Given the description of an element on the screen output the (x, y) to click on. 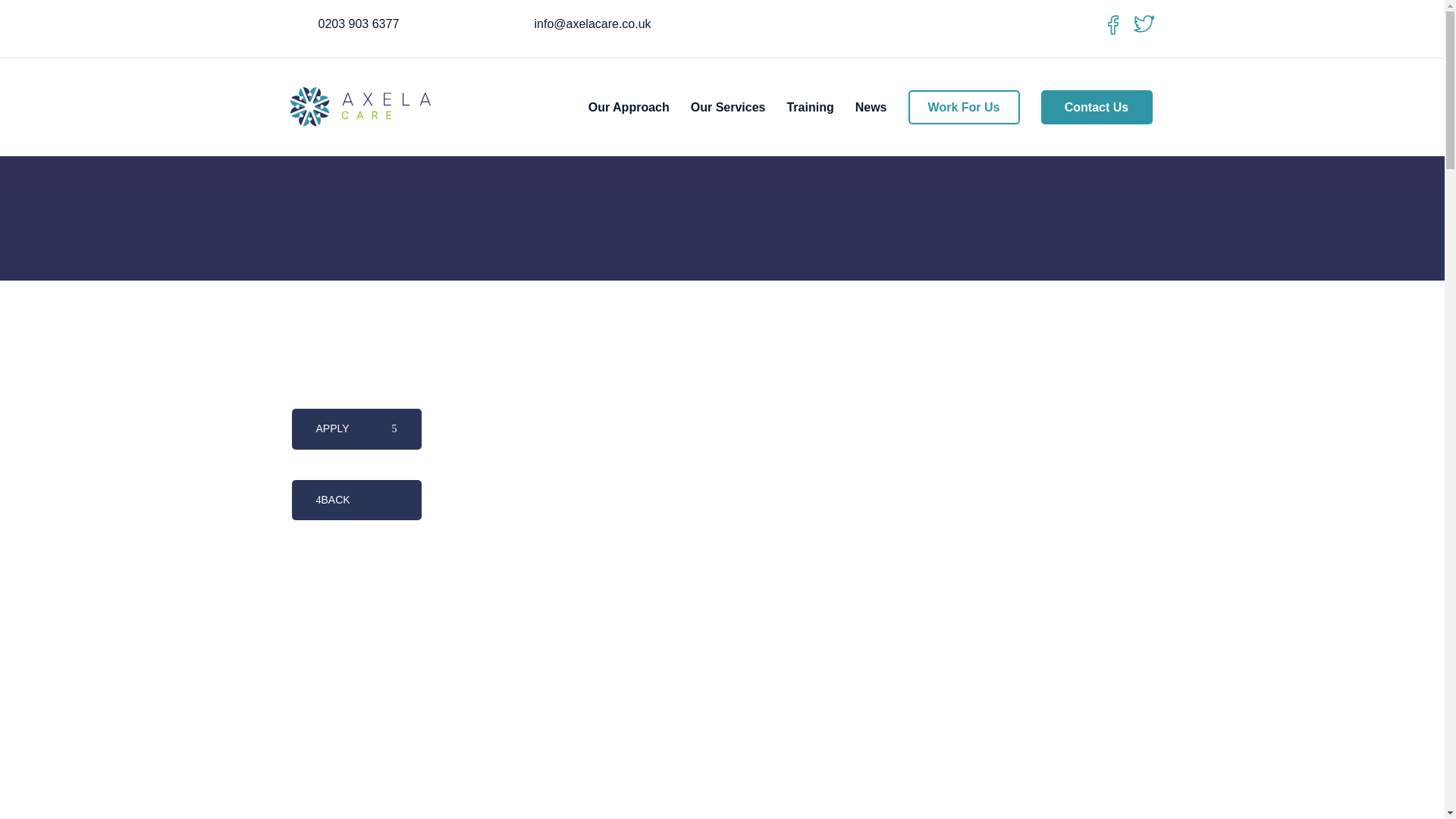
News (871, 107)
APPLY (355, 428)
BACK (355, 499)
Work For Us (964, 106)
twitter (1143, 23)
0203 903 6377 (358, 23)
Our Approach (628, 107)
Training (809, 107)
Contact Us (1096, 107)
Our Services (727, 107)
